Given the description of an element on the screen output the (x, y) to click on. 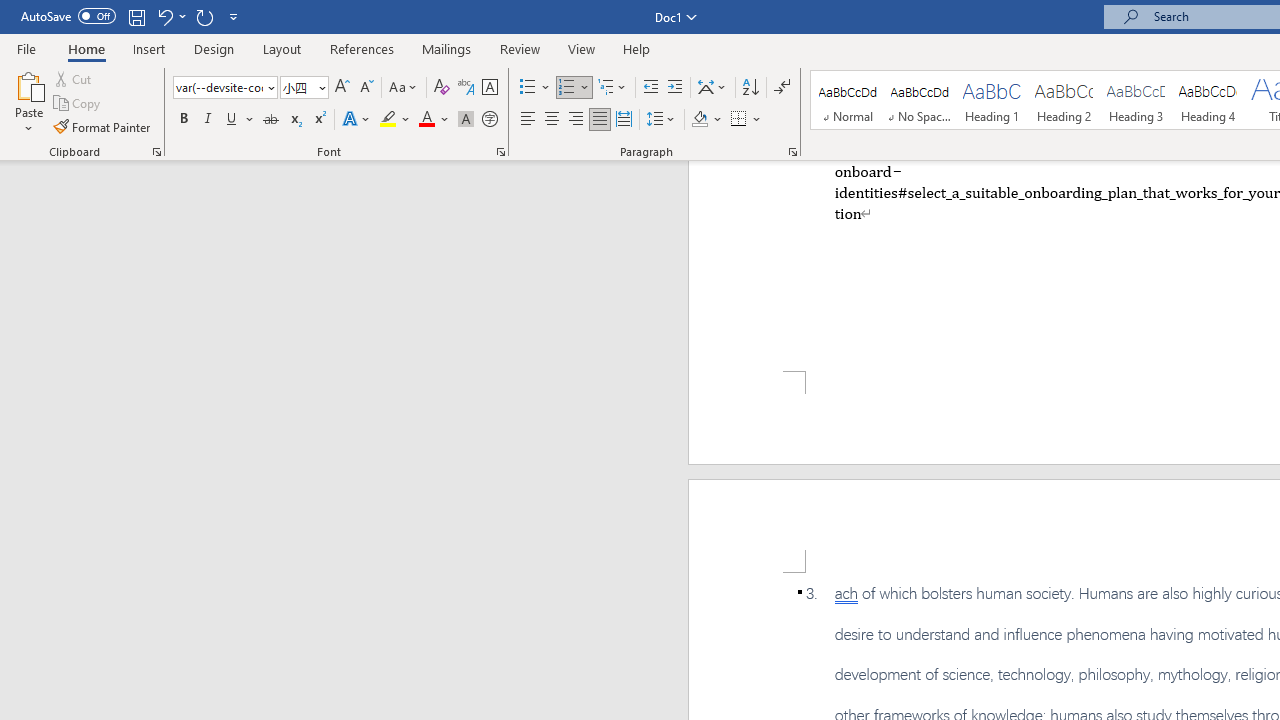
Numbering (573, 87)
Heading 1 (991, 100)
Office Clipboard... (156, 151)
Format Painter (103, 126)
Asian Layout (712, 87)
Clear Formatting (442, 87)
Font Size (297, 87)
Cut (73, 78)
Character Border (489, 87)
Heading 3 (1135, 100)
Bullets (527, 87)
Layout (282, 48)
Insert (149, 48)
Paste (28, 102)
